Given the description of an element on the screen output the (x, y) to click on. 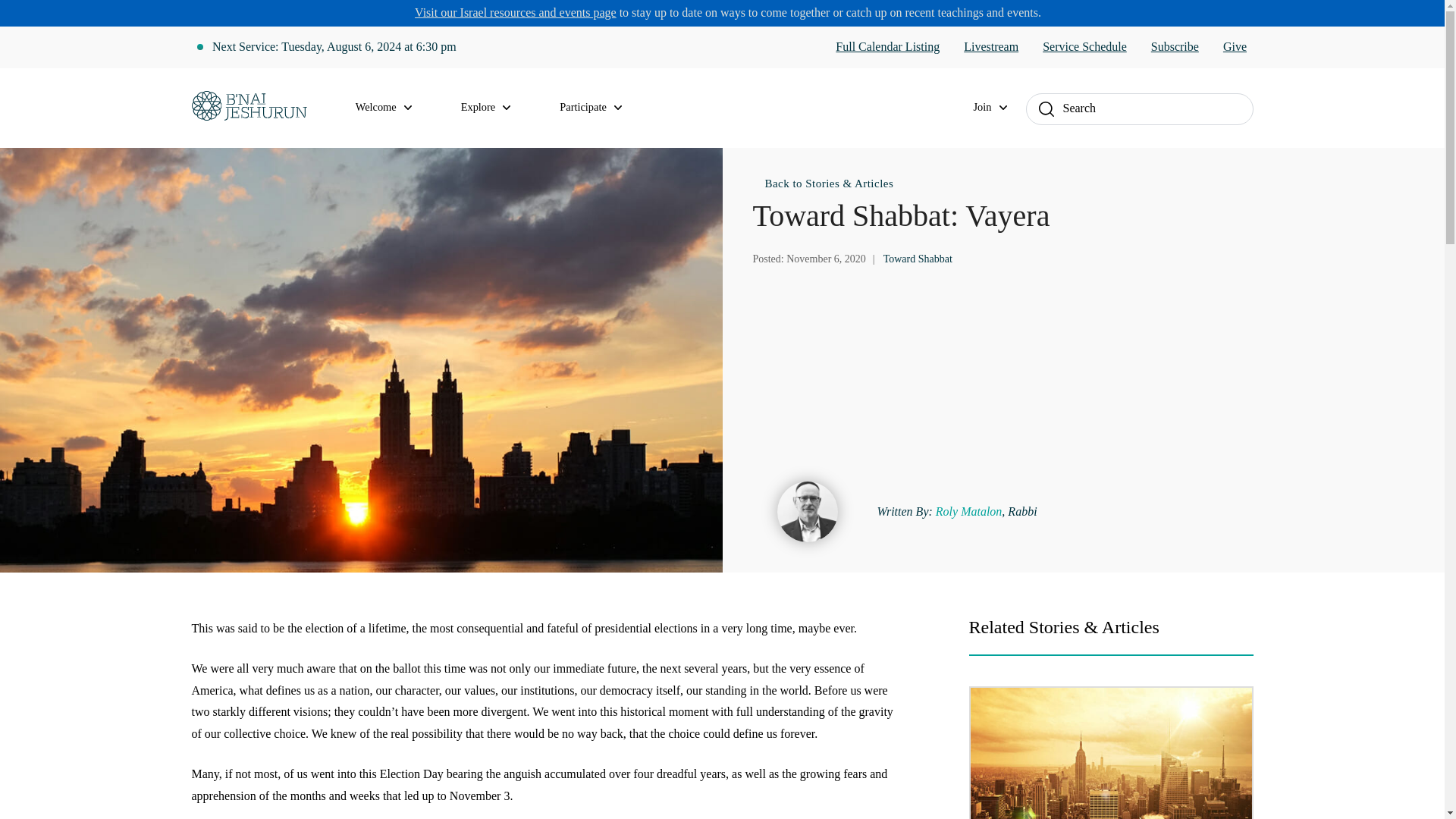
Full Calendar Listing (887, 47)
Next Service: Tuesday, August 6, 2024 at 6:30 pm (334, 47)
Visit our Israel resources and events page (514, 12)
Give (1234, 47)
Participate (599, 107)
Service Schedule (1084, 47)
Welcome (392, 107)
Livestream (990, 47)
Subscribe (1174, 47)
